Given the description of an element on the screen output the (x, y) to click on. 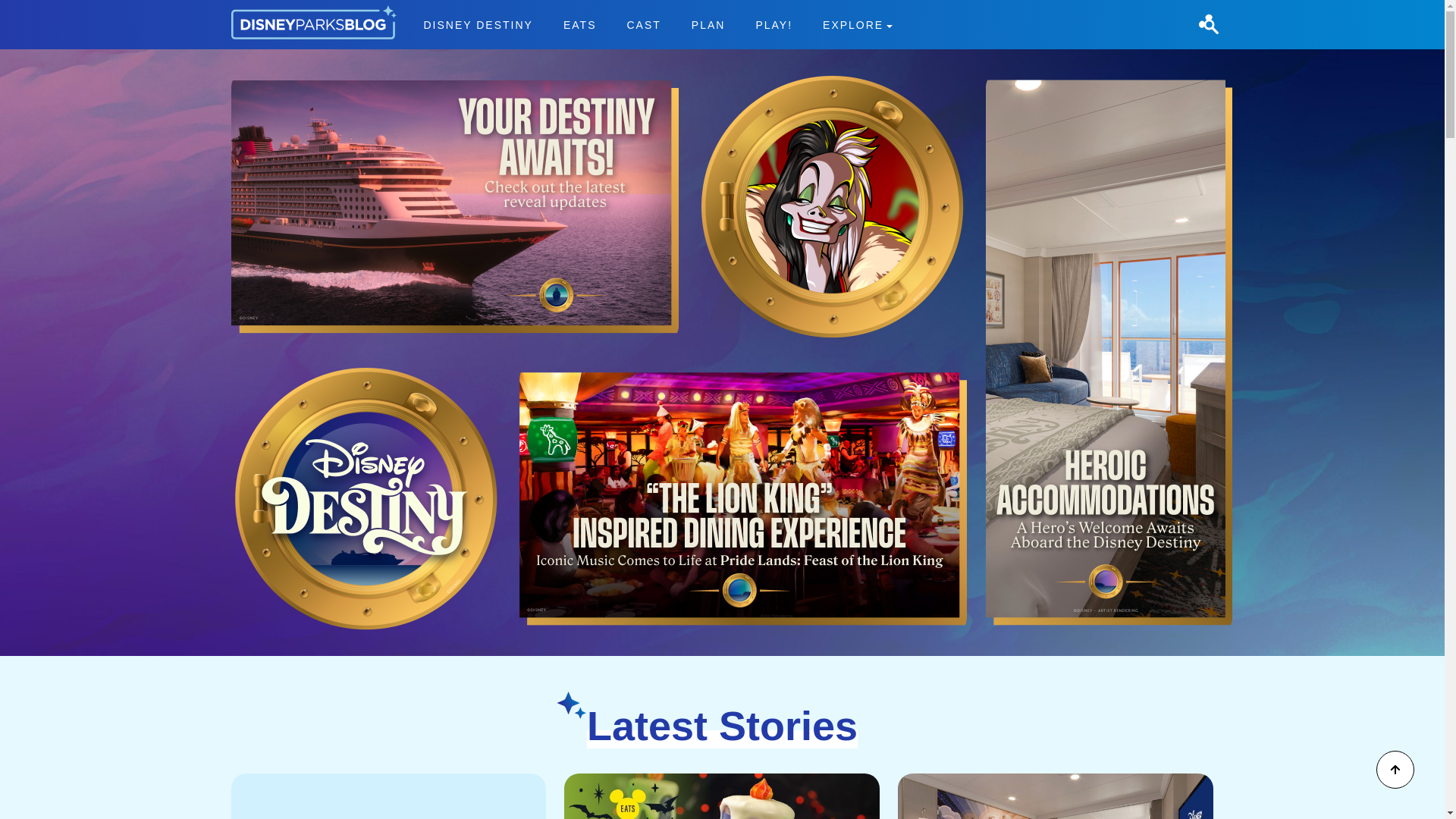
PLAY! (773, 23)
Skip to content (40, 8)
CAST (643, 23)
DISNEY DESTINY (478, 23)
EATS (579, 23)
EXPLORE (857, 23)
PLAN (708, 23)
